Given the description of an element on the screen output the (x, y) to click on. 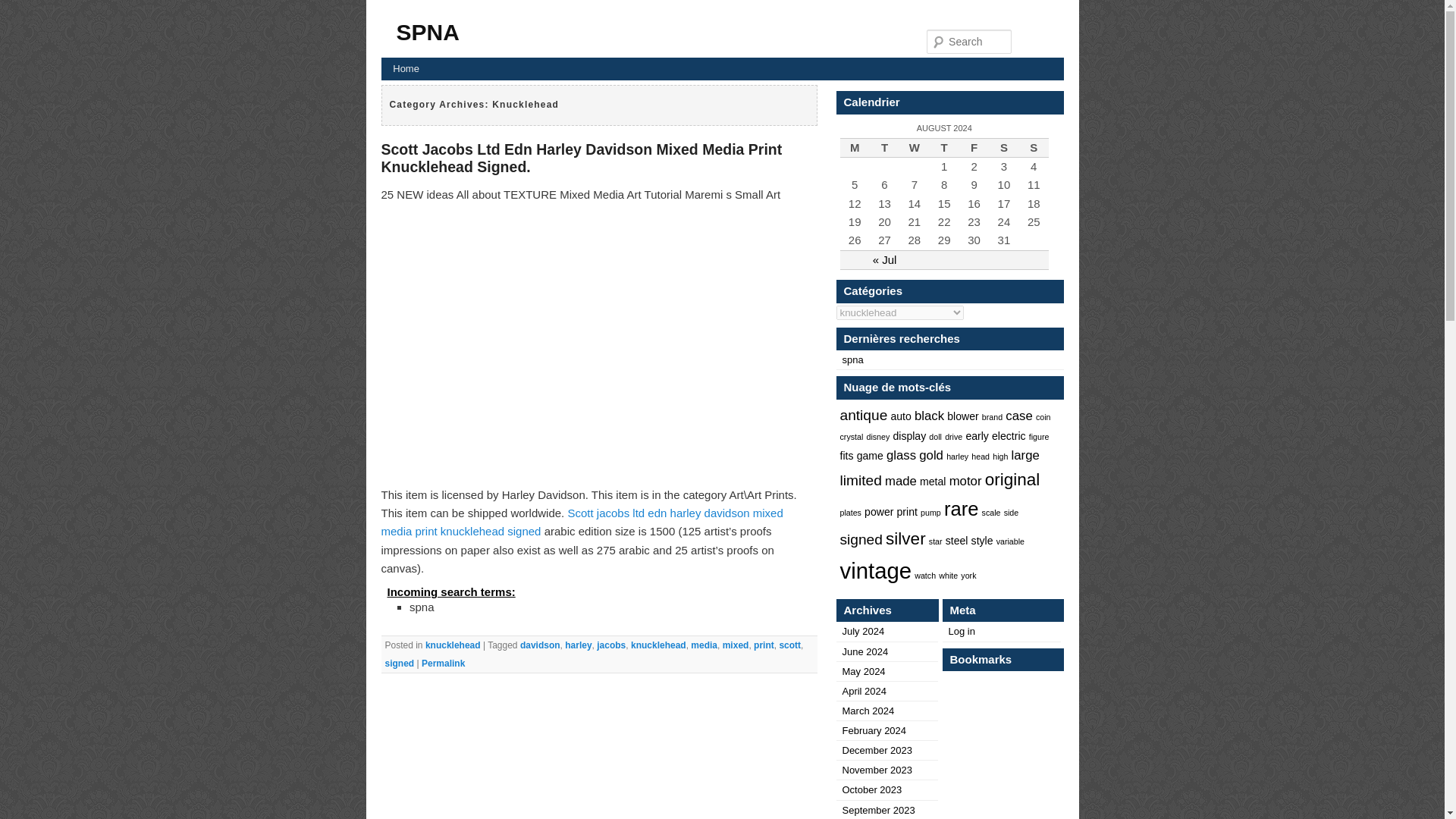
scott (789, 644)
harley (577, 644)
Friday (973, 148)
signed (399, 663)
Home (405, 68)
brand (992, 416)
Sunday (1033, 148)
doll (935, 436)
Thursday (944, 148)
coin (1043, 416)
glass (900, 454)
jacobs (611, 644)
game (870, 455)
Wednesday (913, 148)
